Given the description of an element on the screen output the (x, y) to click on. 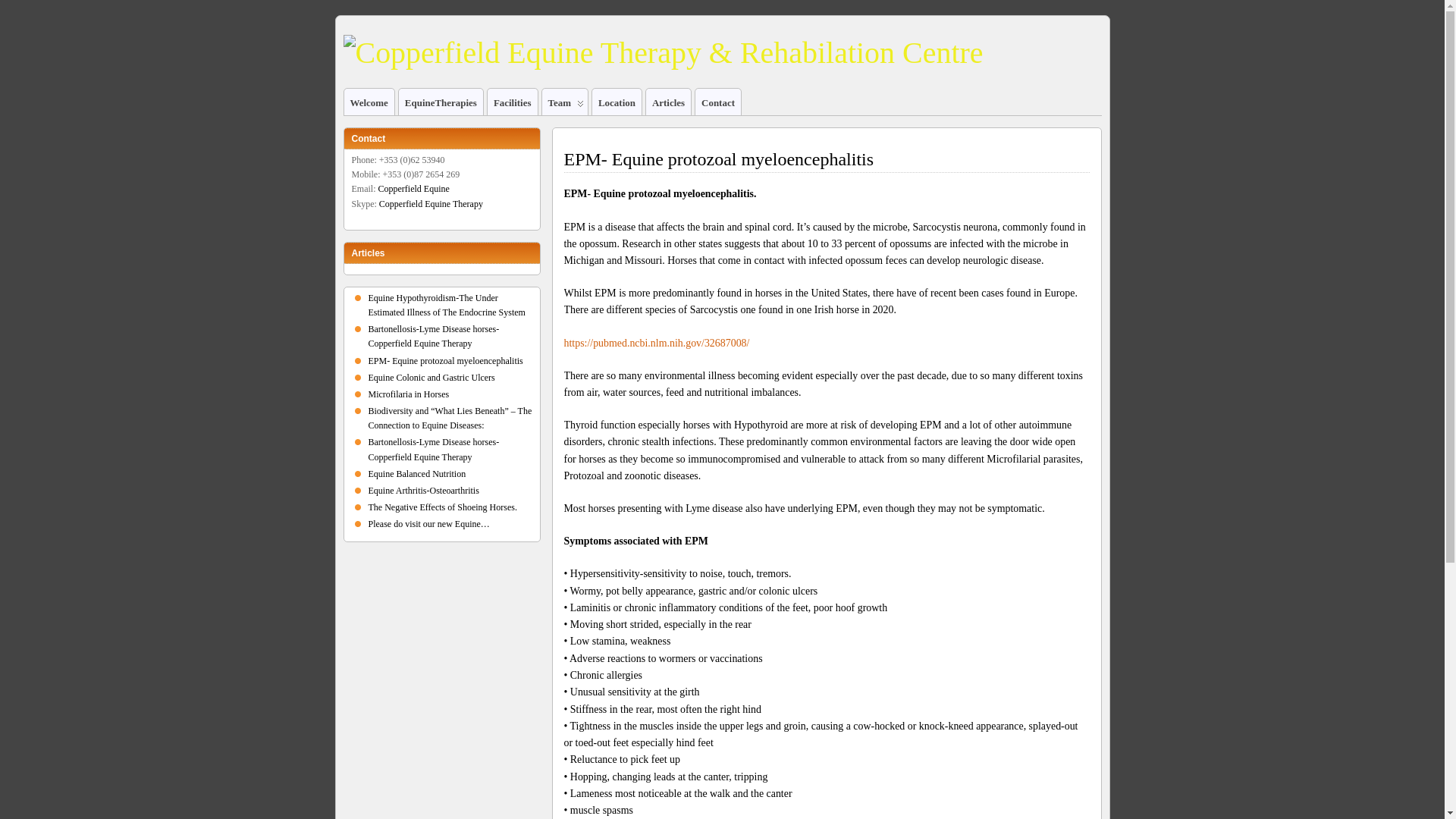
Equine Arthritis-Osteoarthritis (423, 490)
The Negative Effects of Shoeing Horses. (442, 507)
EPM- Equine protozoal myeloencephalitis (445, 359)
 Team (564, 101)
Bartonellosis-Lyme Disease horses-Copperfield Equine Therapy (433, 335)
EquineTherapies (440, 101)
Copperfield Equine (412, 188)
Welcome (368, 101)
Equine Balanced Nutrition (416, 473)
Contact (718, 101)
Facilities (512, 101)
Bartonellosis-Lyme Disease horses-Copperfield Equine Therapy (433, 448)
EPM- Equine protozoal myeloencephalitis (719, 158)
Articles (668, 101)
